Given the description of an element on the screen output the (x, y) to click on. 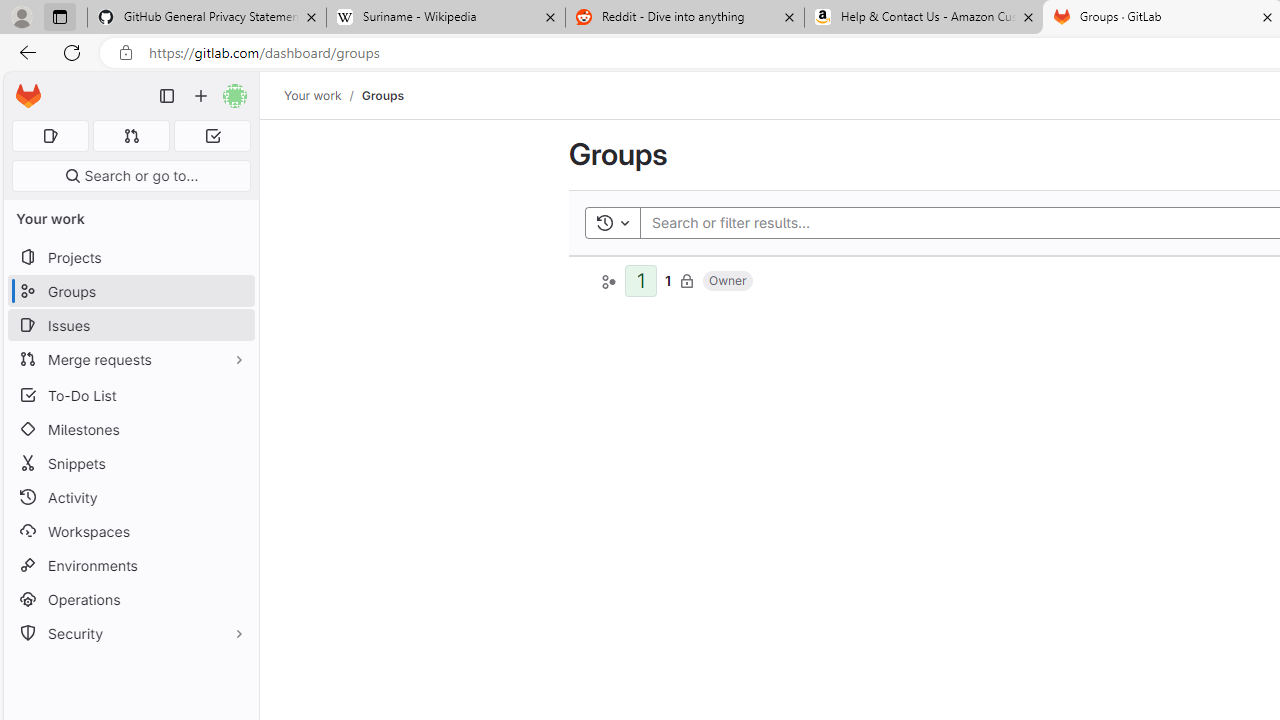
Issues (130, 325)
Activity (130, 497)
